Given the description of an element on the screen output the (x, y) to click on. 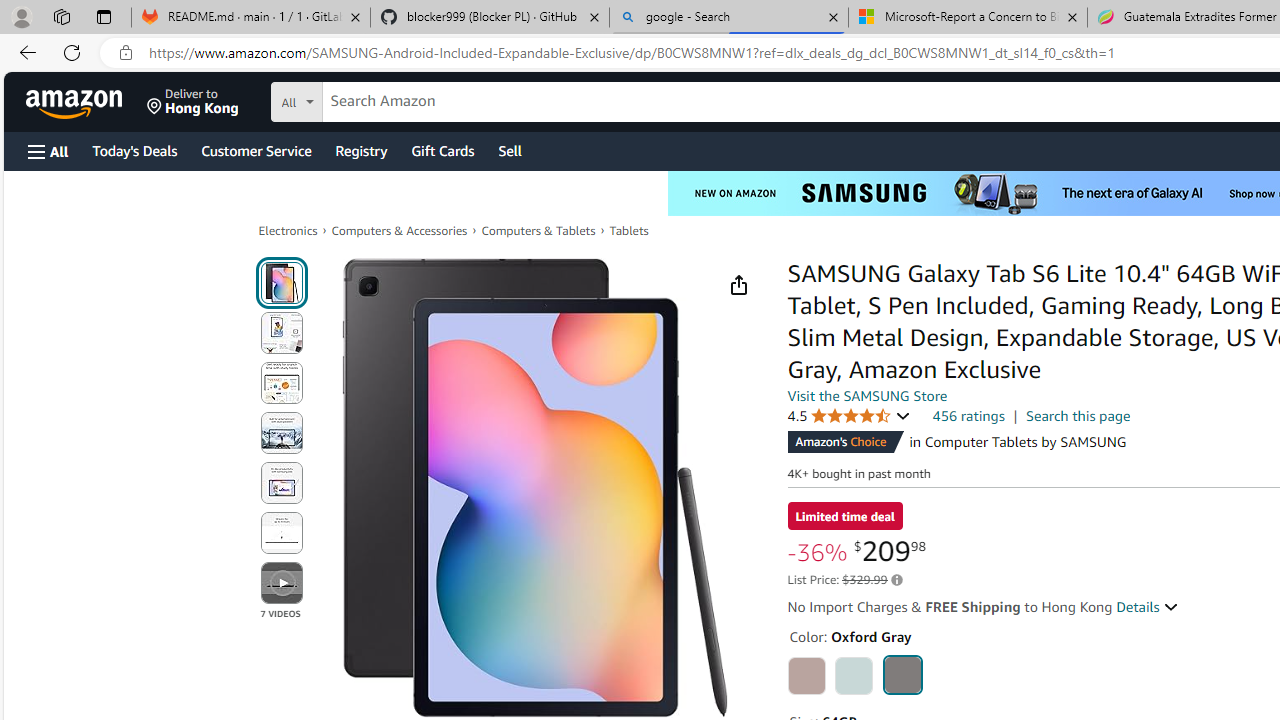
Mint (853, 676)
456 ratings (967, 415)
Oxford Gray (902, 674)
Amazon (76, 101)
Visit the SAMSUNG Store (867, 395)
Chiffon Pink (806, 676)
Deliver to Hong Kong (193, 101)
Gift Cards (442, 150)
Tablets (628, 230)
Computers & Tablets (538, 230)
Open Menu (48, 151)
Chiffon Pink (806, 676)
